Given the description of an element on the screen output the (x, y) to click on. 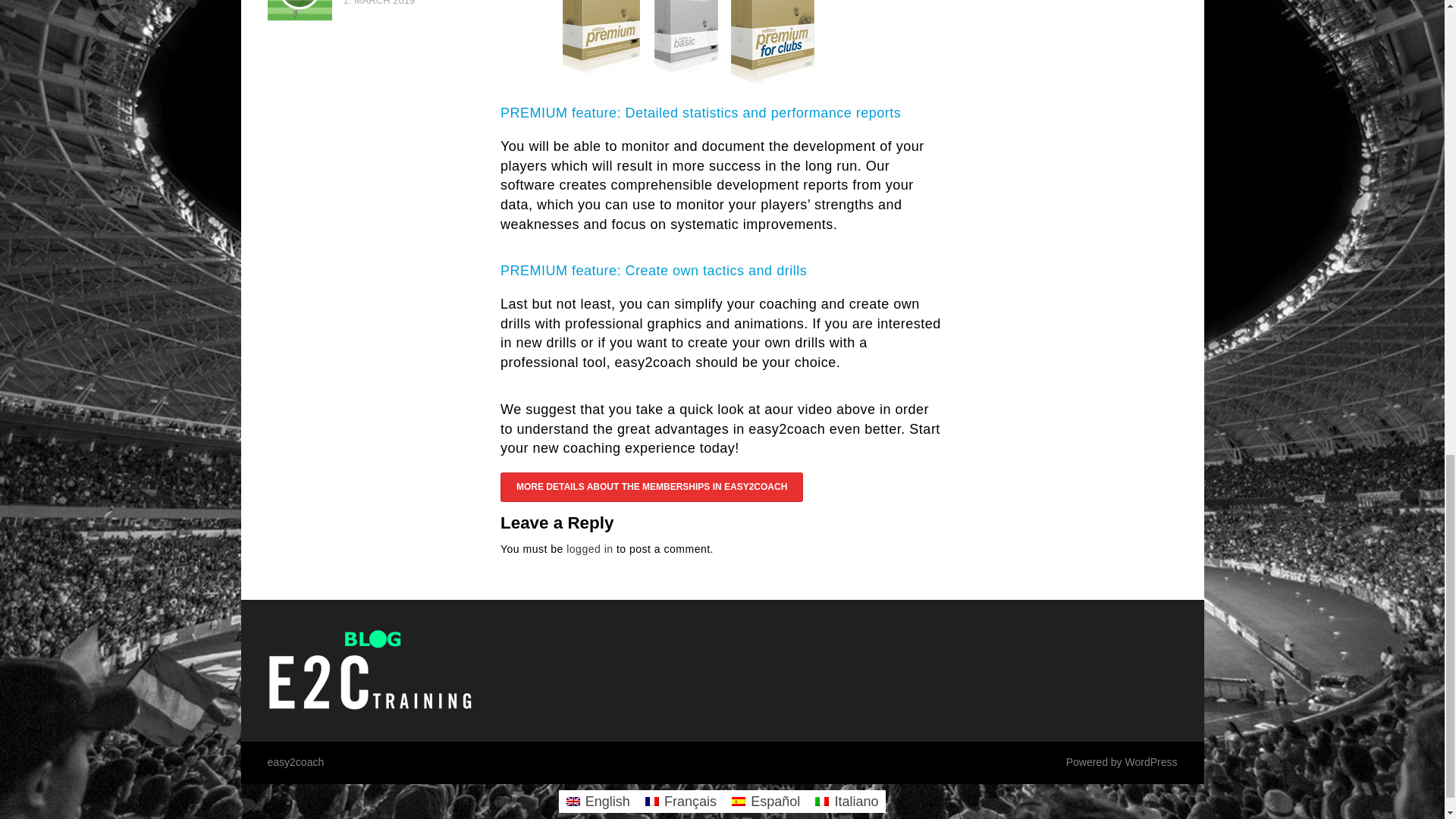
PREMIUM feature: Detailed statistics and performance reports (700, 112)
logged in (589, 548)
PREMIUM feature: Create own tactics and drills (653, 270)
MORE DETAILS ABOUT THE MEMBERSHIPS IN EASY2COACH (651, 487)
